Given the description of an element on the screen output the (x, y) to click on. 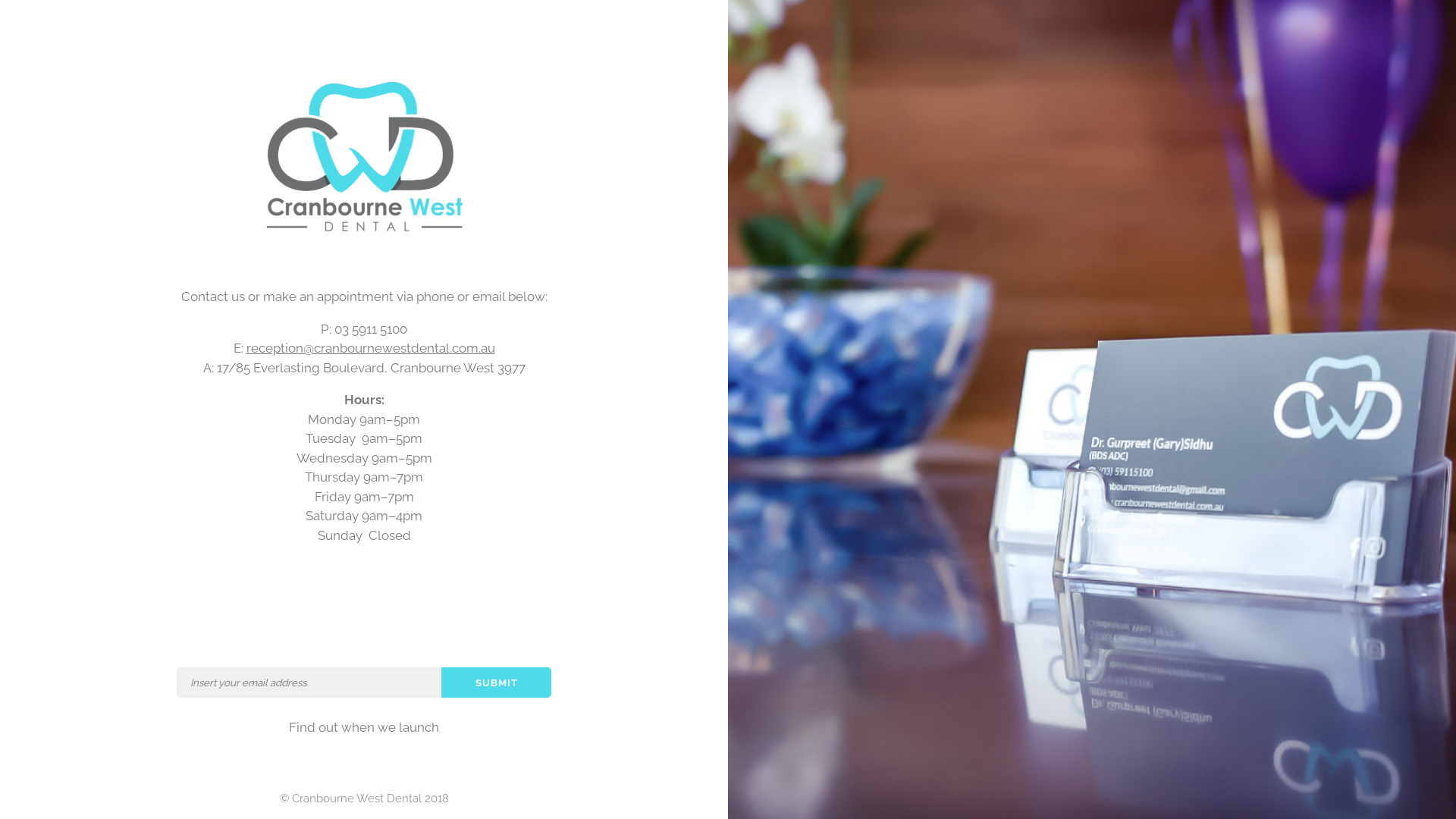
Submit Element type: text (496, 682)
reception@cranbournewestdental.com.au Element type: text (369, 347)
